Given the description of an element on the screen output the (x, y) to click on. 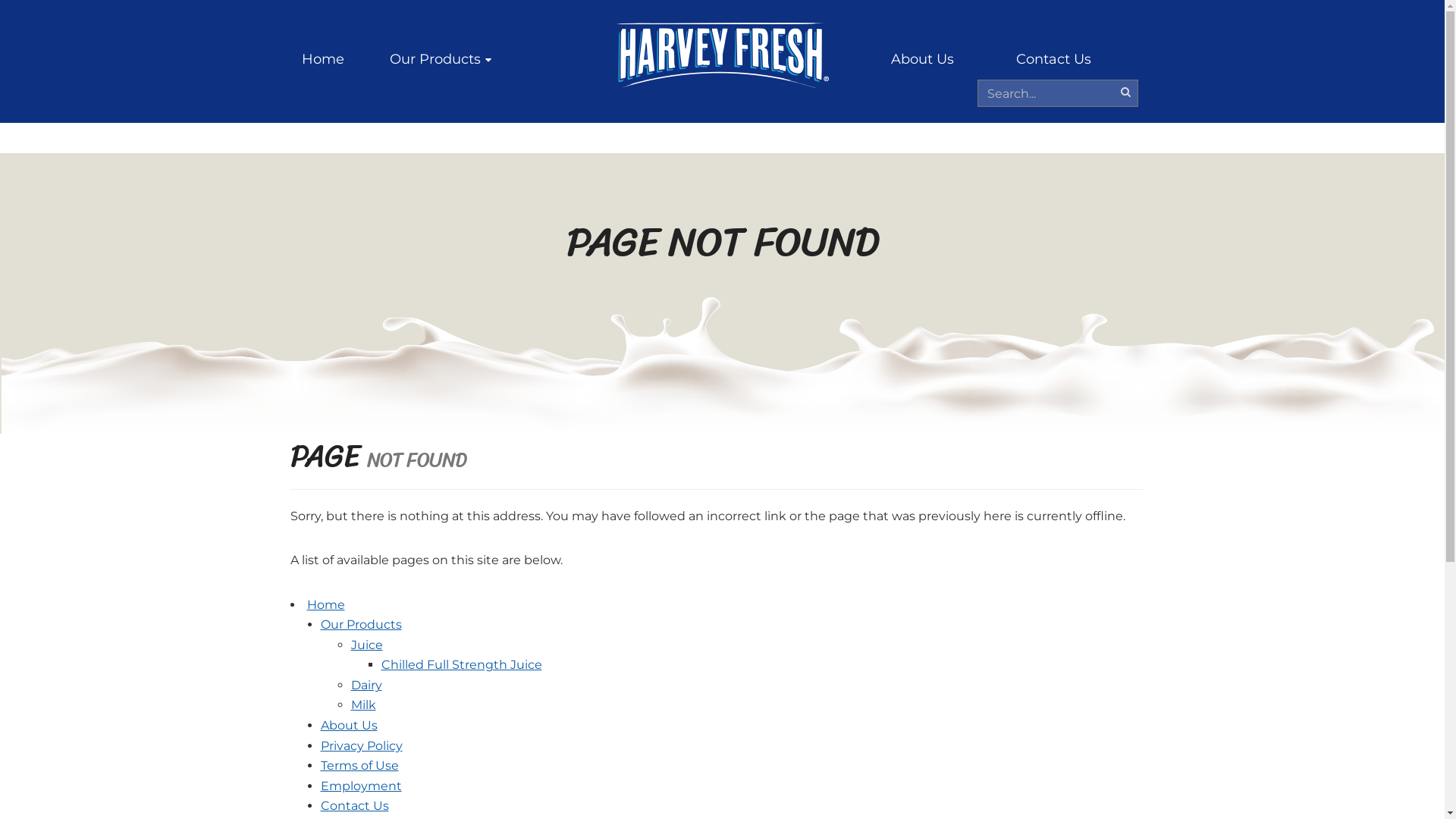
Employment Element type: text (360, 785)
Chilled Full Strength Juice Element type: text (460, 664)
Our Products Element type: text (440, 59)
Home Element type: text (322, 59)
Terms of Use Element type: text (359, 765)
Milk Element type: text (362, 704)
Dairy Element type: text (365, 684)
Contact Us Element type: text (354, 805)
Contact Us Element type: text (1053, 59)
Juice Element type: text (366, 644)
Home Element type: text (325, 604)
Our Products Element type: text (360, 624)
About Us Element type: text (921, 59)
About Us Element type: text (348, 725)
Privacy Policy Element type: text (360, 745)
